Given the description of an element on the screen output the (x, y) to click on. 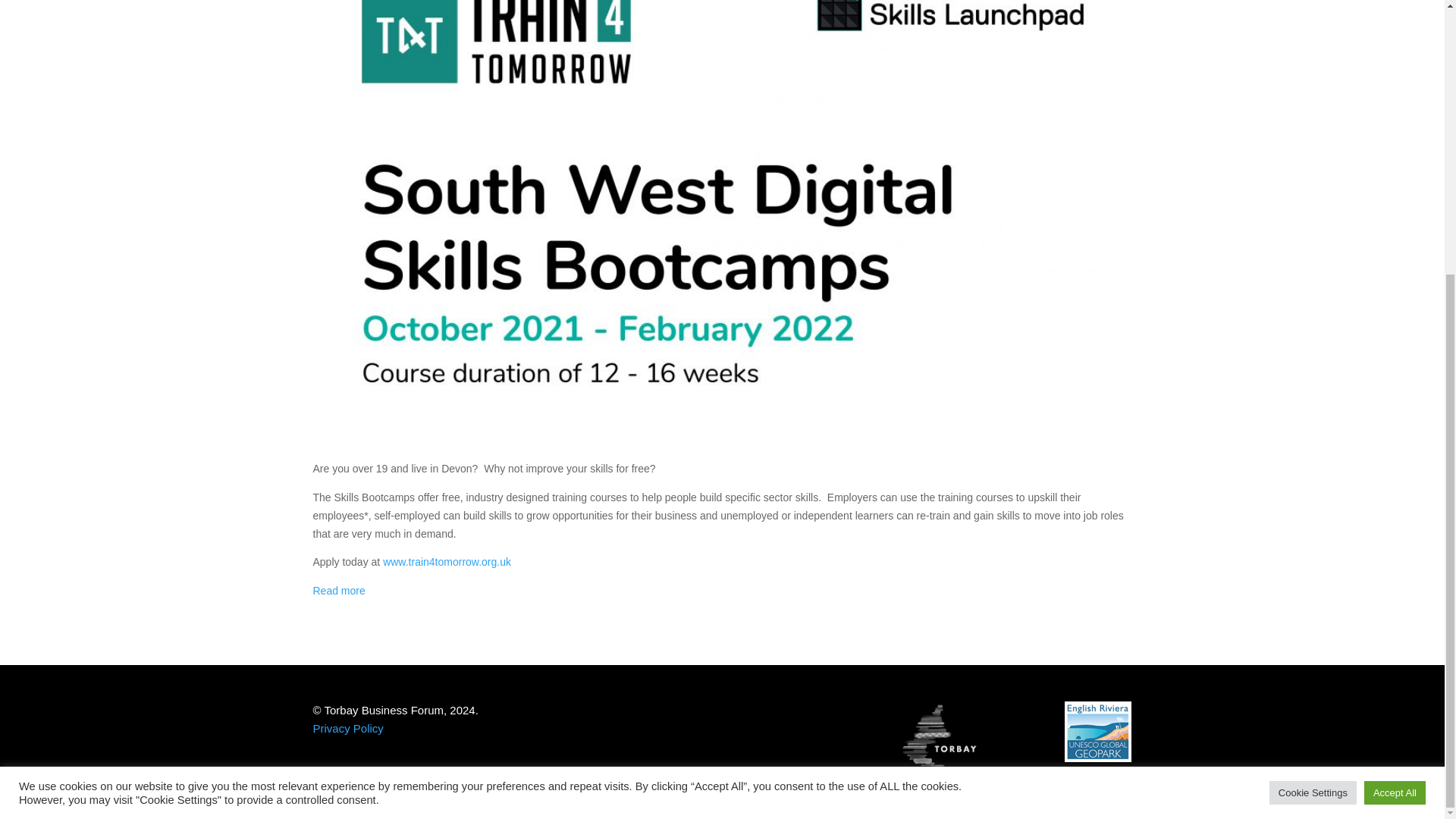
Privacy Policy (347, 727)
Read more (339, 590)
www.train4tomorrow.org.uk (446, 562)
